Given the description of an element on the screen output the (x, y) to click on. 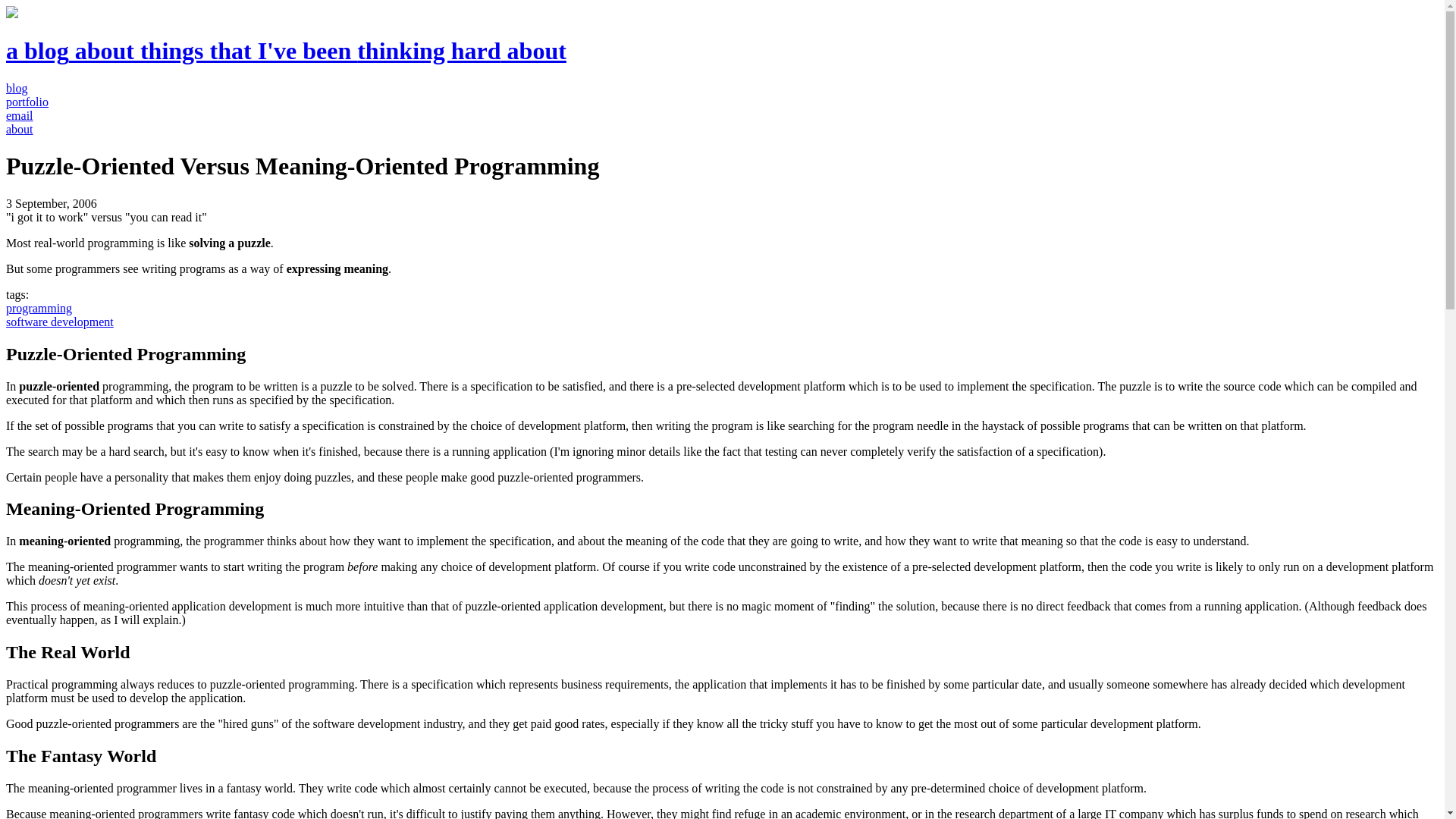
a blog about things that I've been thinking hard about (285, 50)
Instructions about how to email me (19, 115)
portfolio (26, 101)
A portfolio of side-projects (26, 101)
blog (16, 88)
programming (38, 308)
about (19, 128)
email (19, 115)
My blog where I write articles about different things (16, 88)
software development (59, 321)
